Given the description of an element on the screen output the (x, y) to click on. 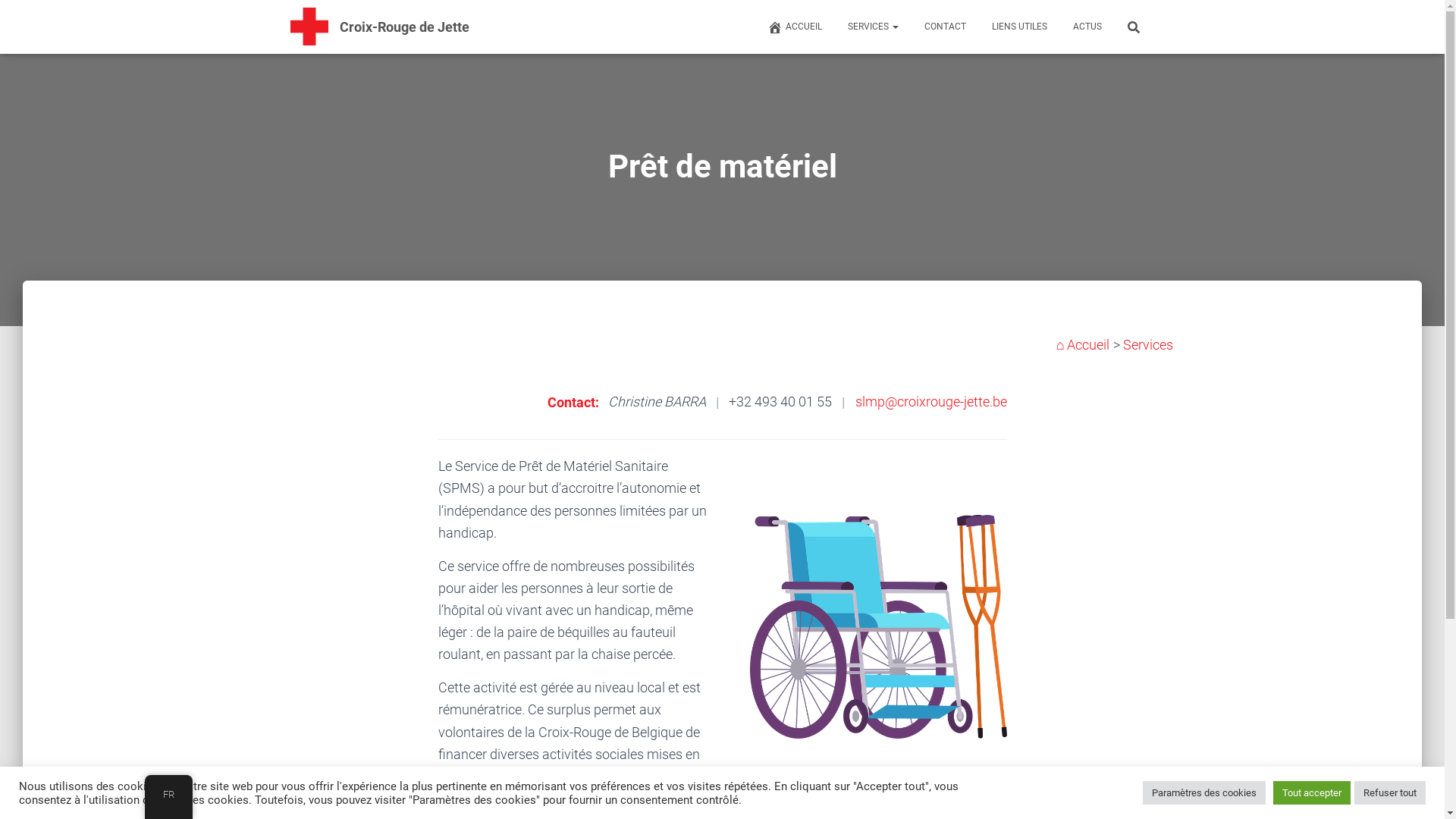
Tout accepter Element type: text (1311, 792)
Croix-Rouge de Jette Element type: text (404, 26)
slmp@croixrouge-jette.be Element type: text (931, 401)
FR Element type: text (167, 794)
Services Element type: text (1147, 344)
Rechercher Element type: text (3, 16)
LIENS UTILES Element type: text (1016, 26)
Croix-Rouge de Jette Element type: hover (309, 26)
CONTACT Element type: text (943, 26)
ACTUS Element type: text (1085, 26)
Refuser tout Element type: text (1389, 792)
ACCUEIL Element type: text (793, 26)
SERVICES Element type: text (870, 26)
